Given the description of an element on the screen output the (x, y) to click on. 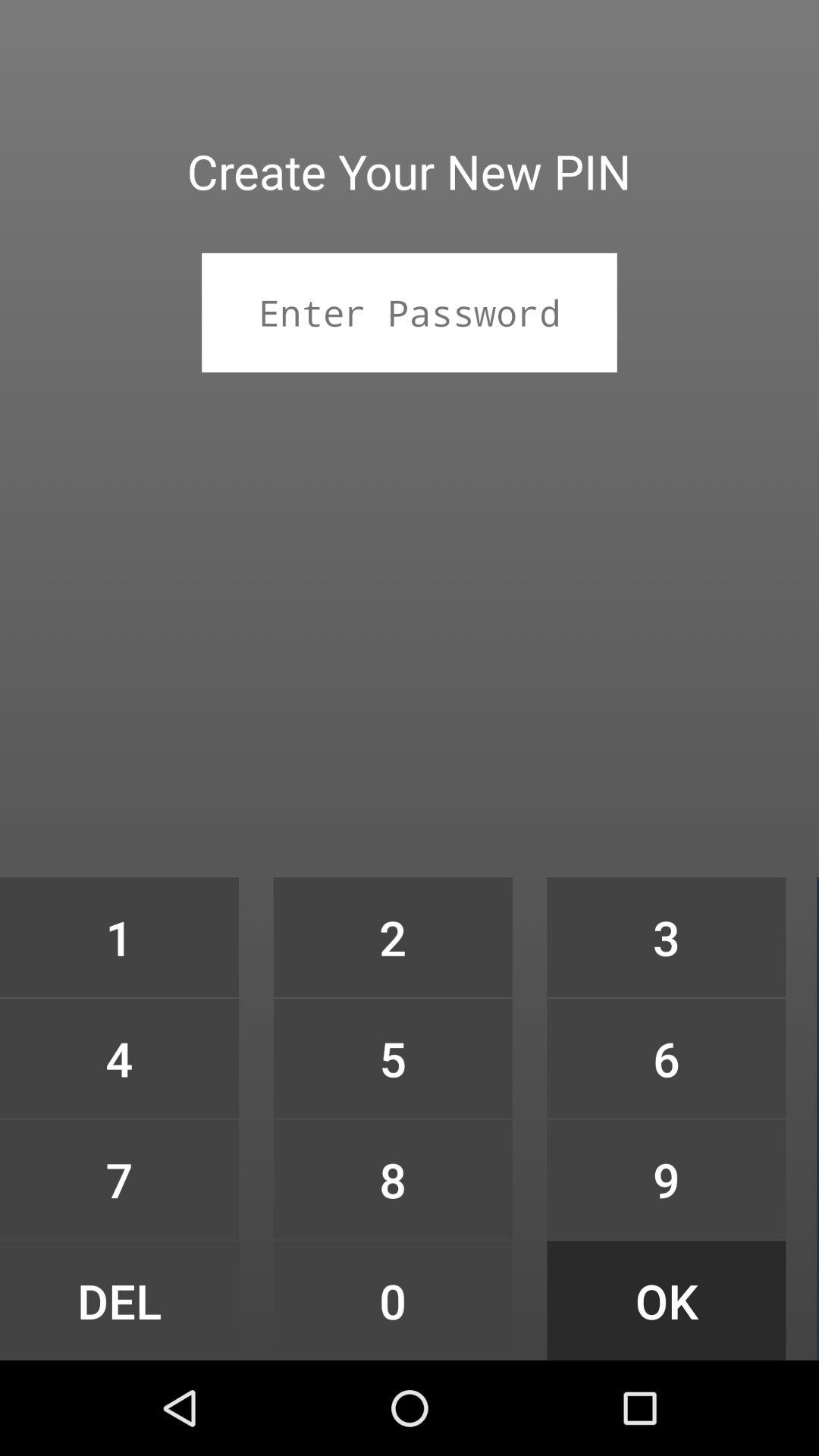
input the password (409, 312)
